Given the description of an element on the screen output the (x, y) to click on. 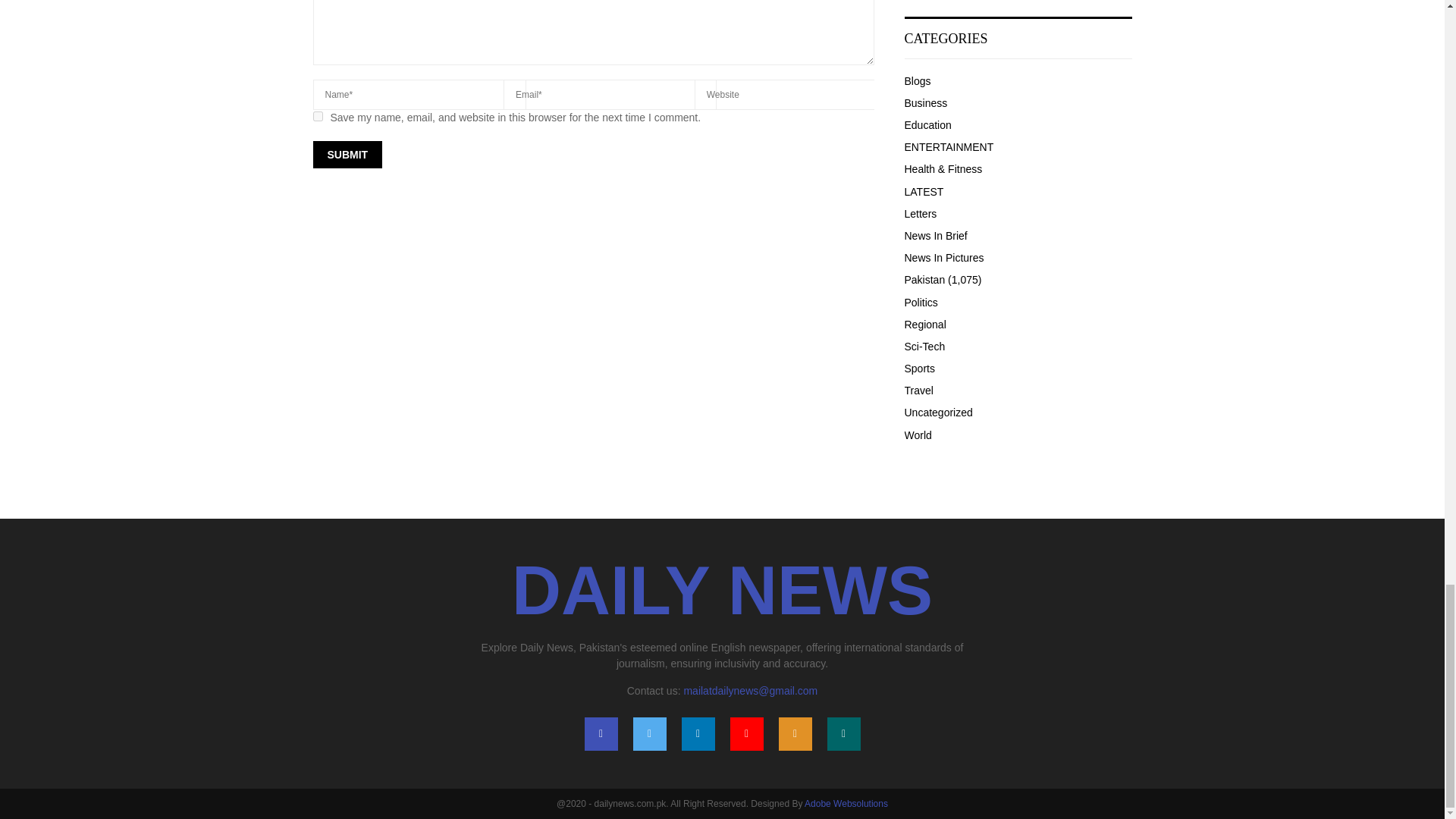
yes (317, 116)
Submit (347, 154)
